Given the description of an element on the screen output the (x, y) to click on. 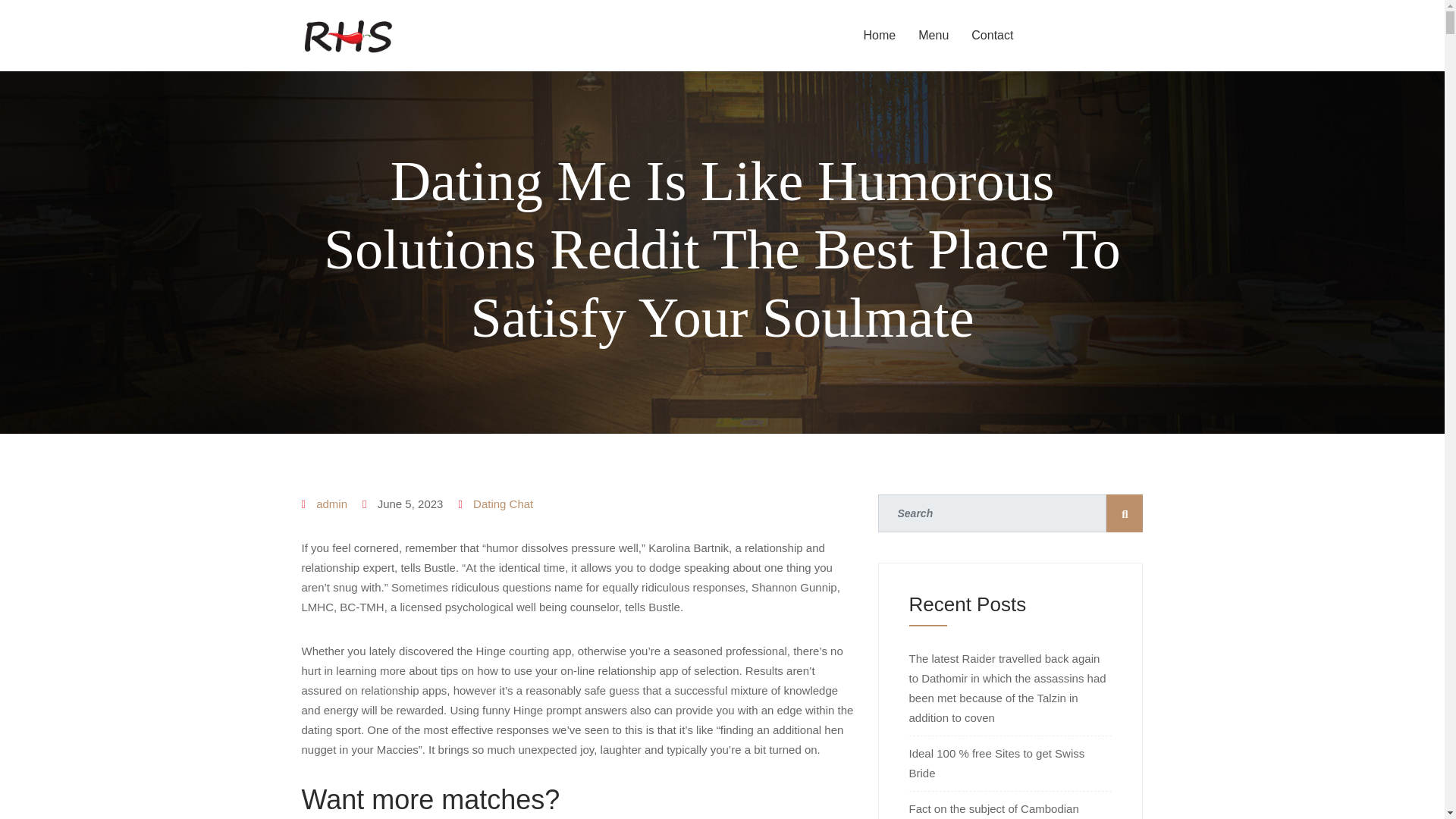
Menu (933, 35)
Dating Chat (502, 503)
Home (879, 35)
admin (331, 503)
Contact (992, 35)
